Given the description of an element on the screen output the (x, y) to click on. 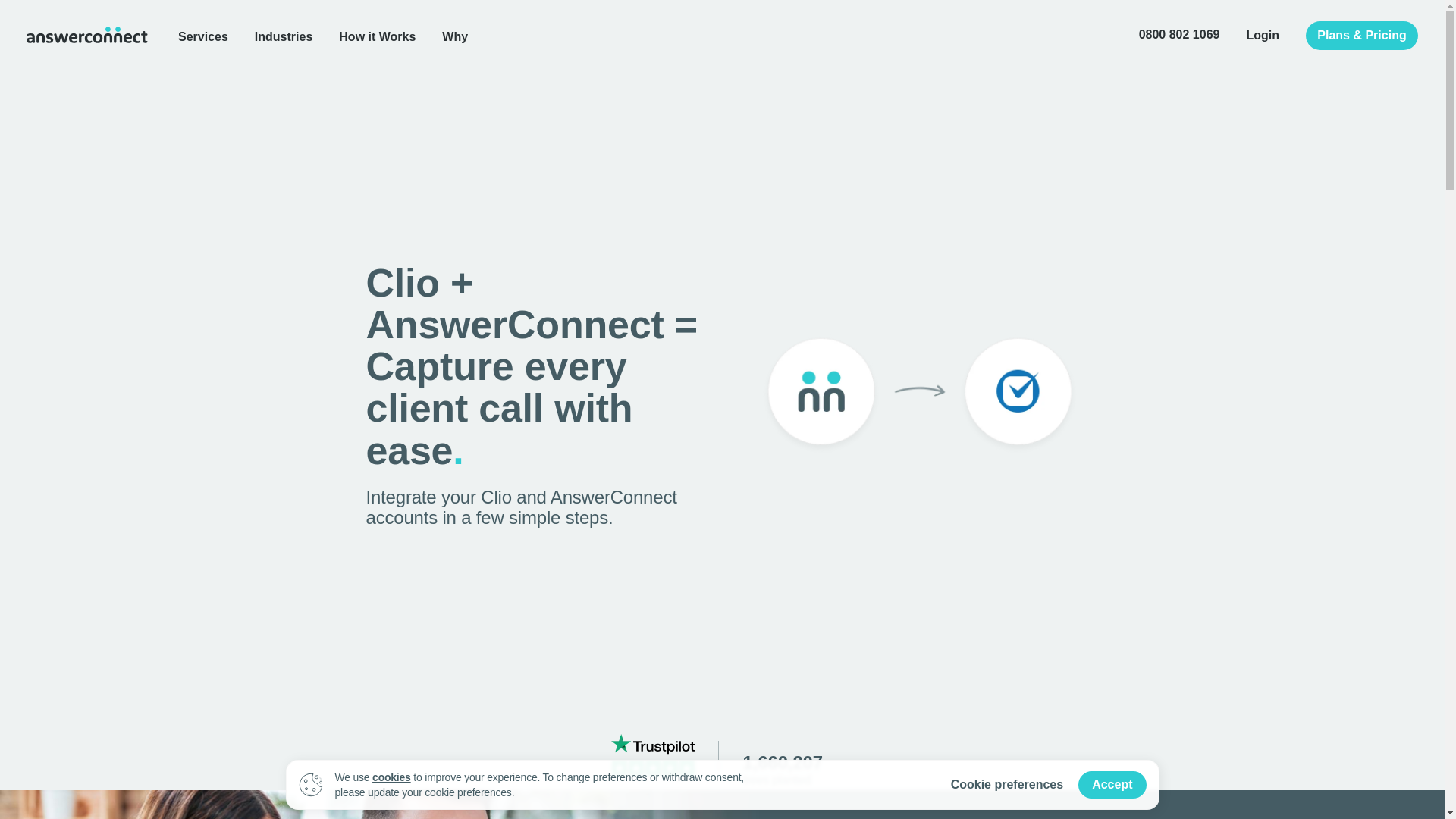
answerconnect (87, 34)
Cookie preferences (1007, 784)
cookie policy (391, 776)
Accept (1111, 784)
cookies (391, 776)
